Given the description of an element on the screen output the (x, y) to click on. 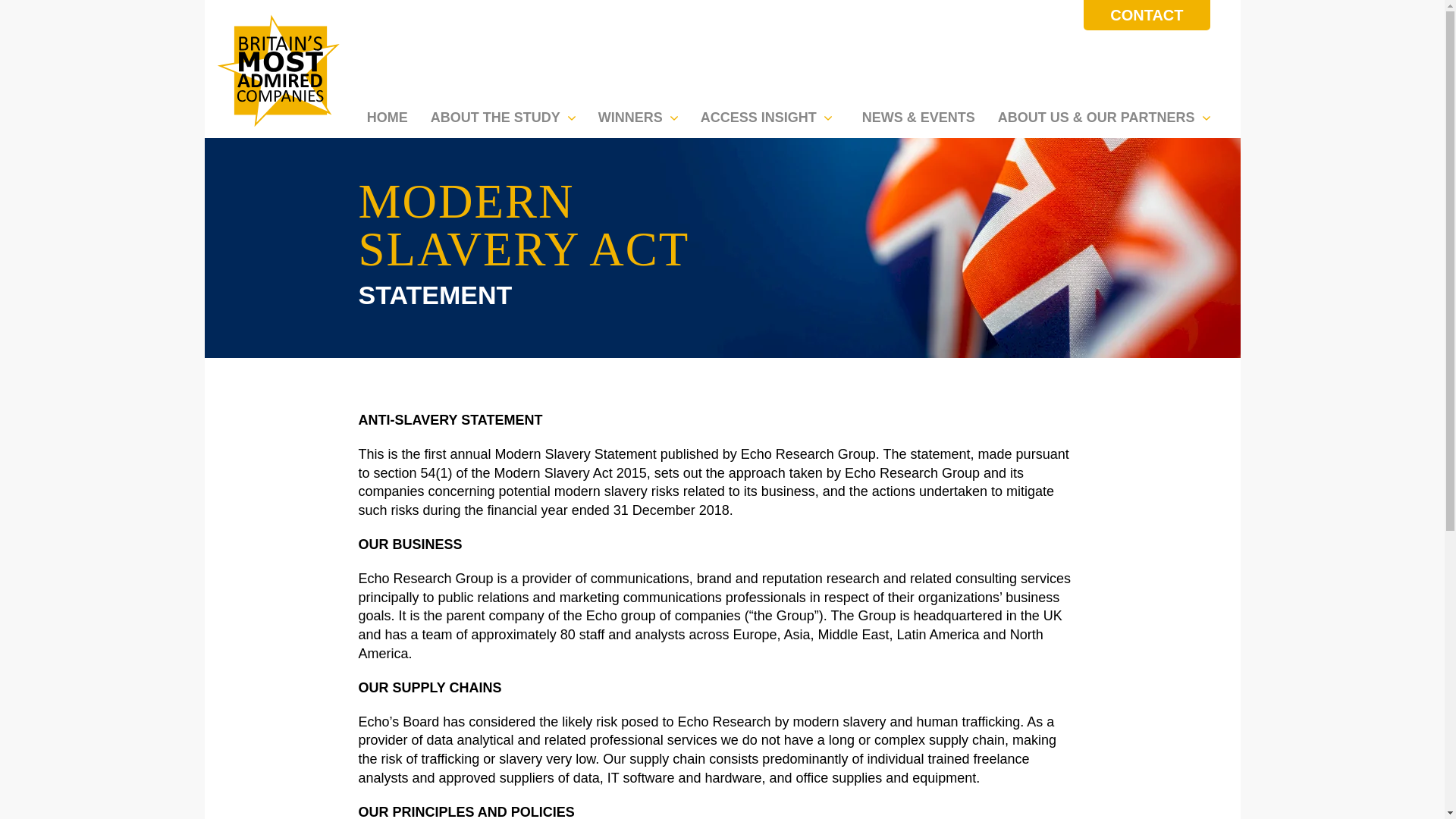
ACCESS INSIGHT (770, 113)
WINNERS (641, 113)
ABOUT THE STUDY (506, 113)
CONTACT (1146, 15)
HOME (386, 113)
